Given the description of an element on the screen output the (x, y) to click on. 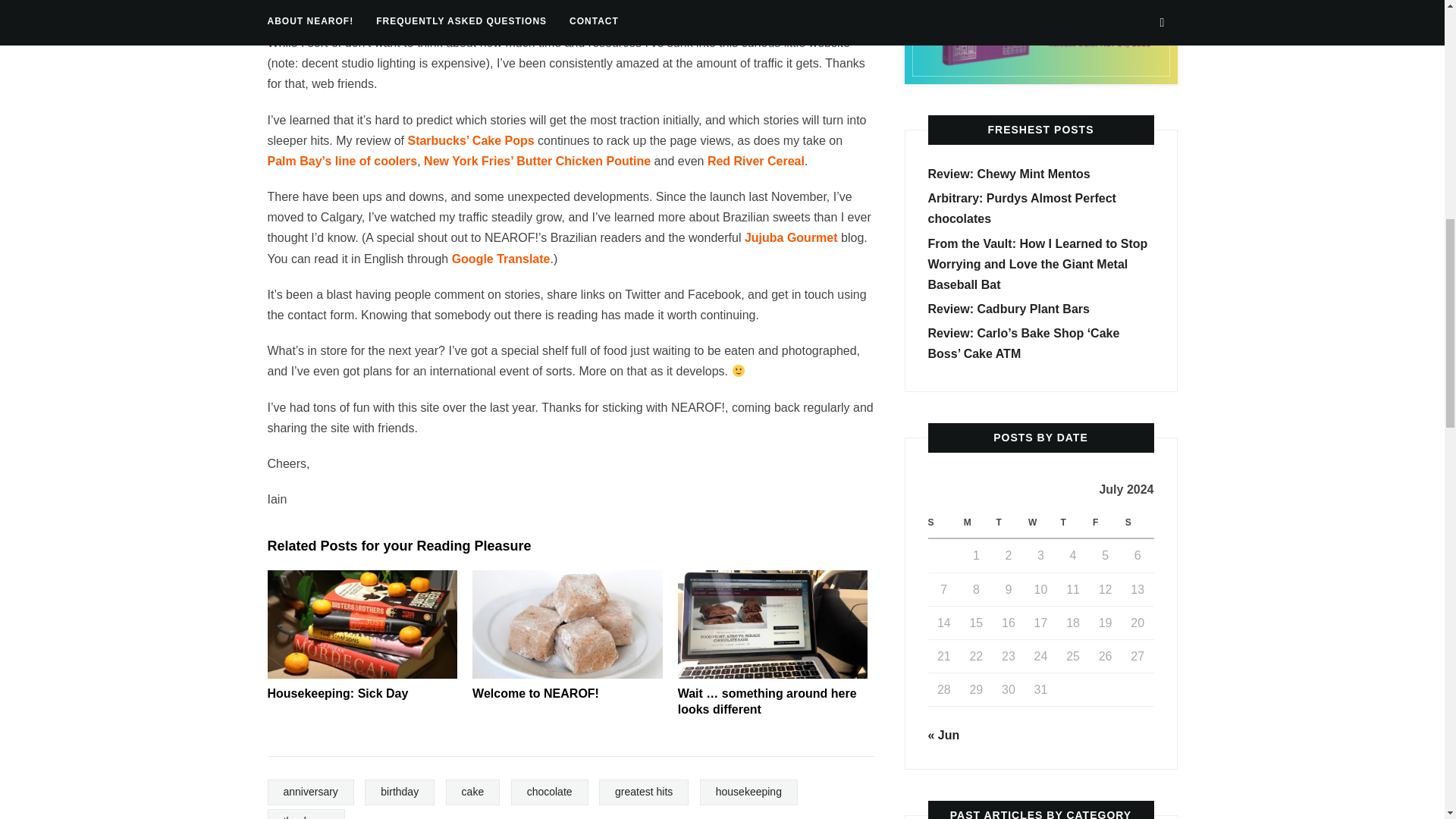
Red River Cereal (756, 160)
Welcome to NEAROF! (566, 624)
Google Translate (500, 258)
Review: Red River Cereal (756, 160)
thank you (305, 814)
Housekeeping: Sick Day (361, 624)
anniversary (309, 791)
chocolate (549, 791)
Jujuba Gourmet (791, 237)
Review: Starbucks Cake Pops (470, 140)
housekeeping (748, 791)
Welcome to NEAROF! (534, 693)
Housekeeping: Sick Day (336, 693)
cake (472, 791)
birthday (399, 791)
